Given the description of an element on the screen output the (x, y) to click on. 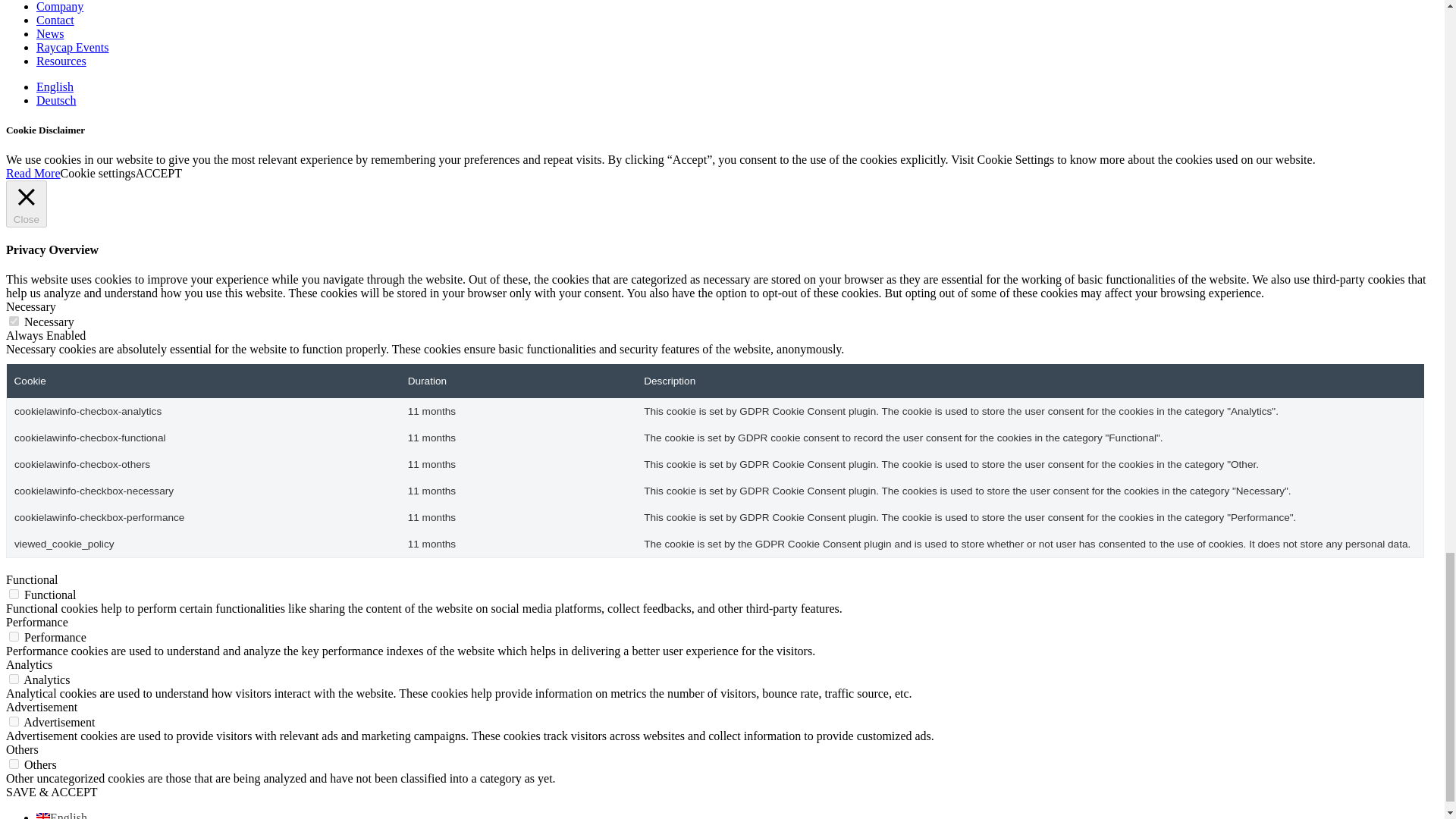
on (13, 320)
on (13, 764)
on (13, 593)
on (13, 678)
on (13, 636)
on (13, 721)
